Given the description of an element on the screen output the (x, y) to click on. 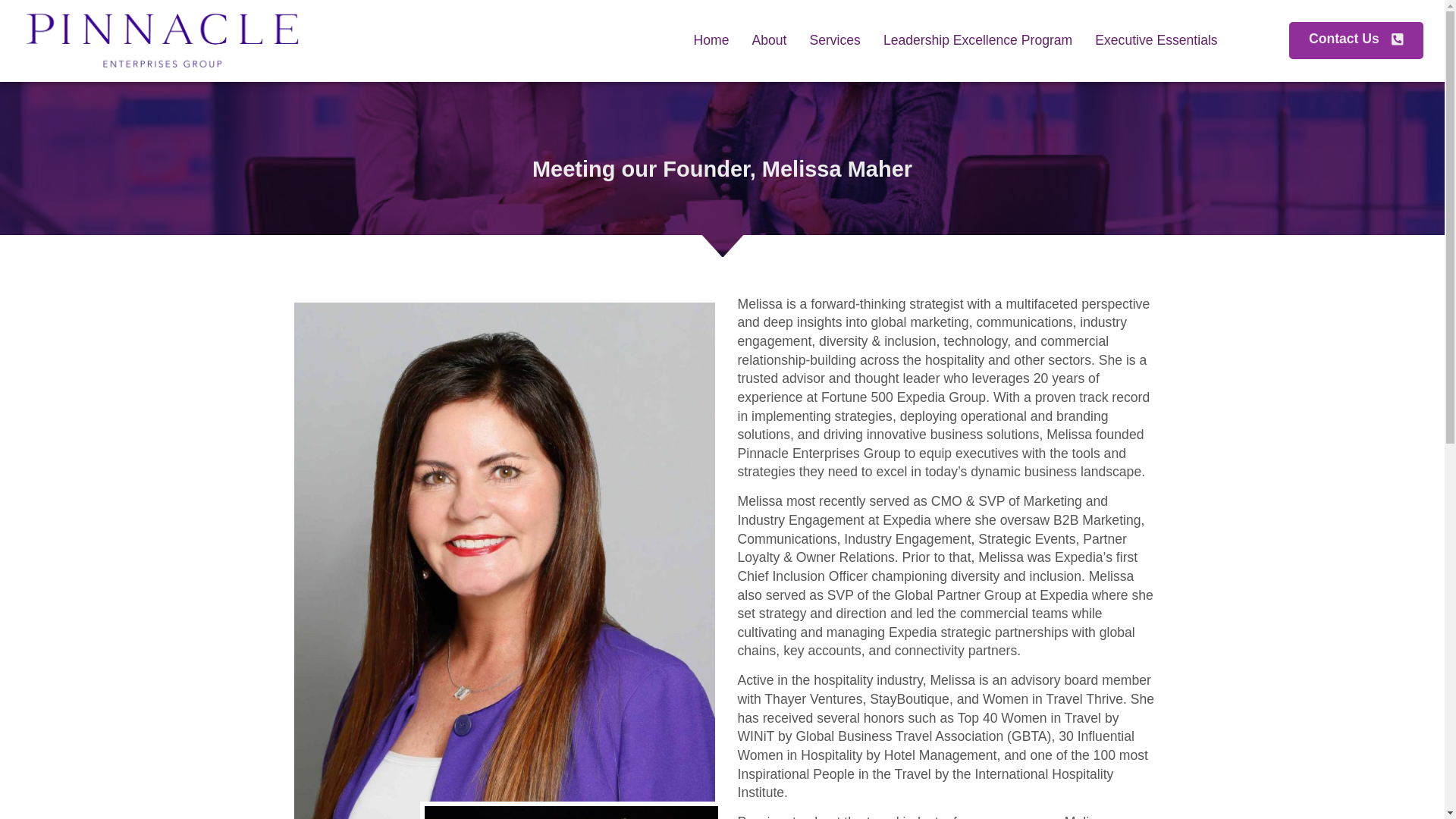
Services (833, 40)
Executive Essentials (1155, 40)
Leadership Excellence Program (977, 40)
Contact Us (1355, 40)
Home (710, 40)
About (768, 40)
